Given the description of an element on the screen output the (x, y) to click on. 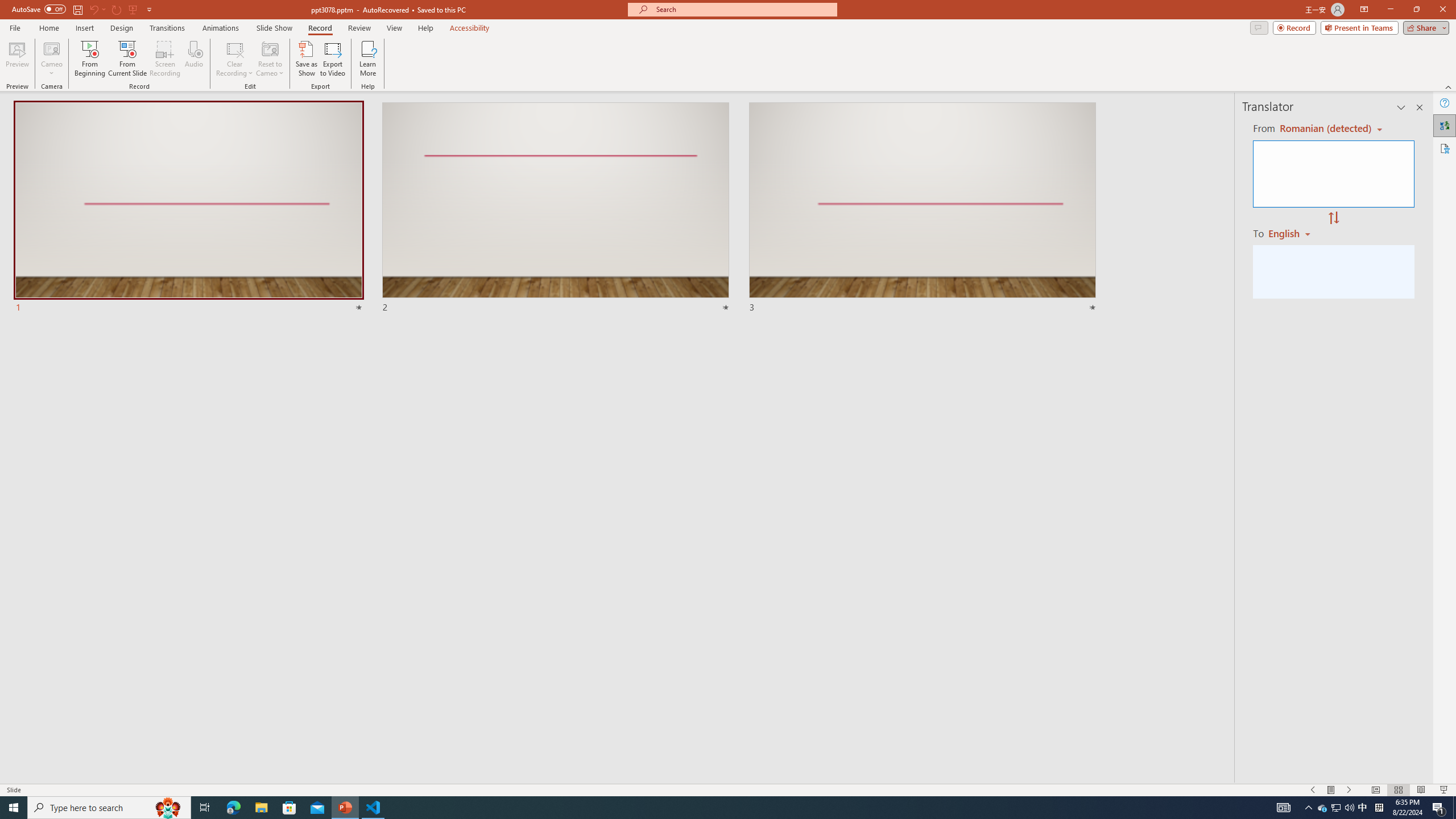
Slide Show Previous On (1313, 790)
